Given the description of an element on the screen output the (x, y) to click on. 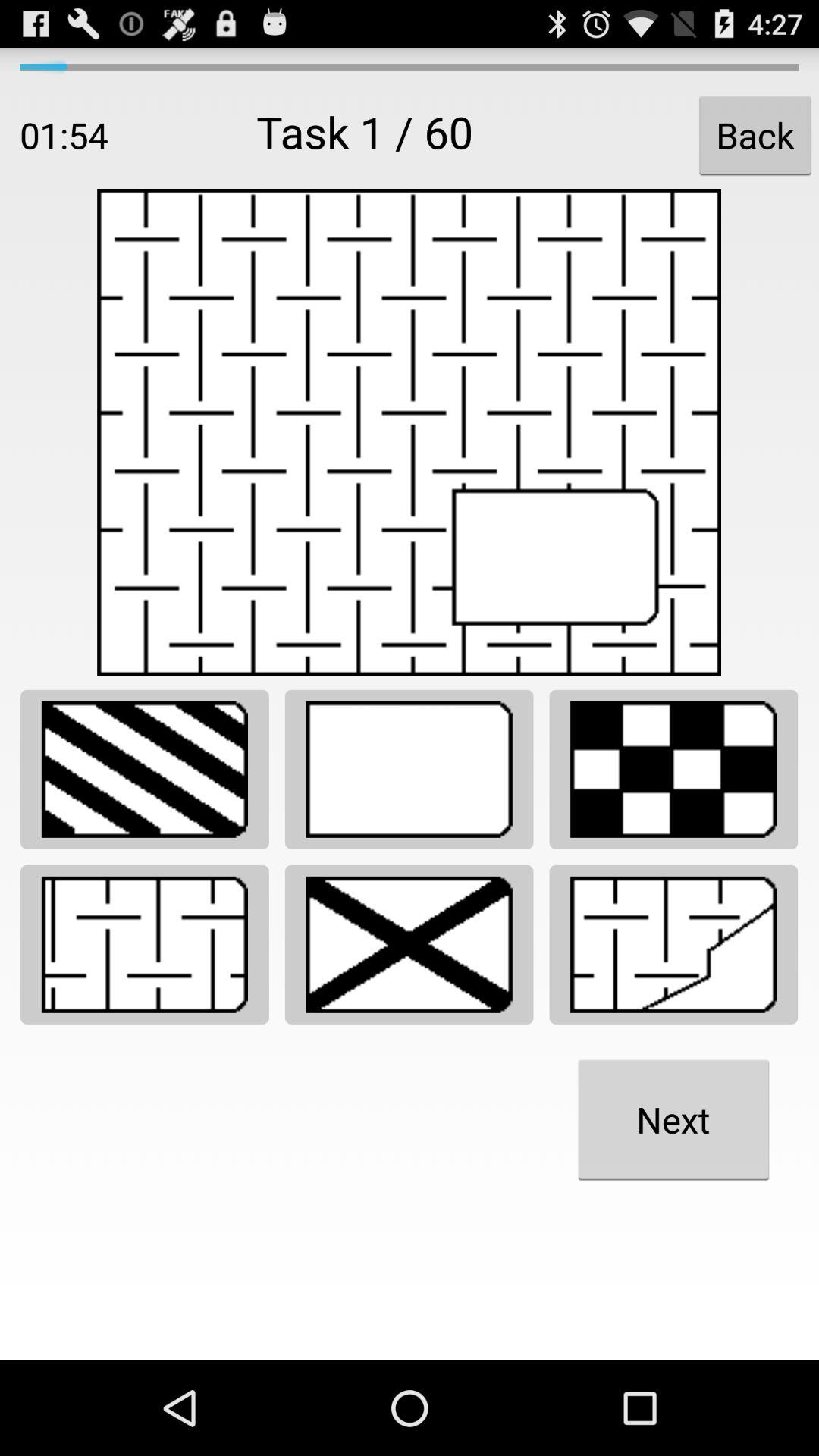
turn off the button at the bottom right corner (673, 1119)
